Given the description of an element on the screen output the (x, y) to click on. 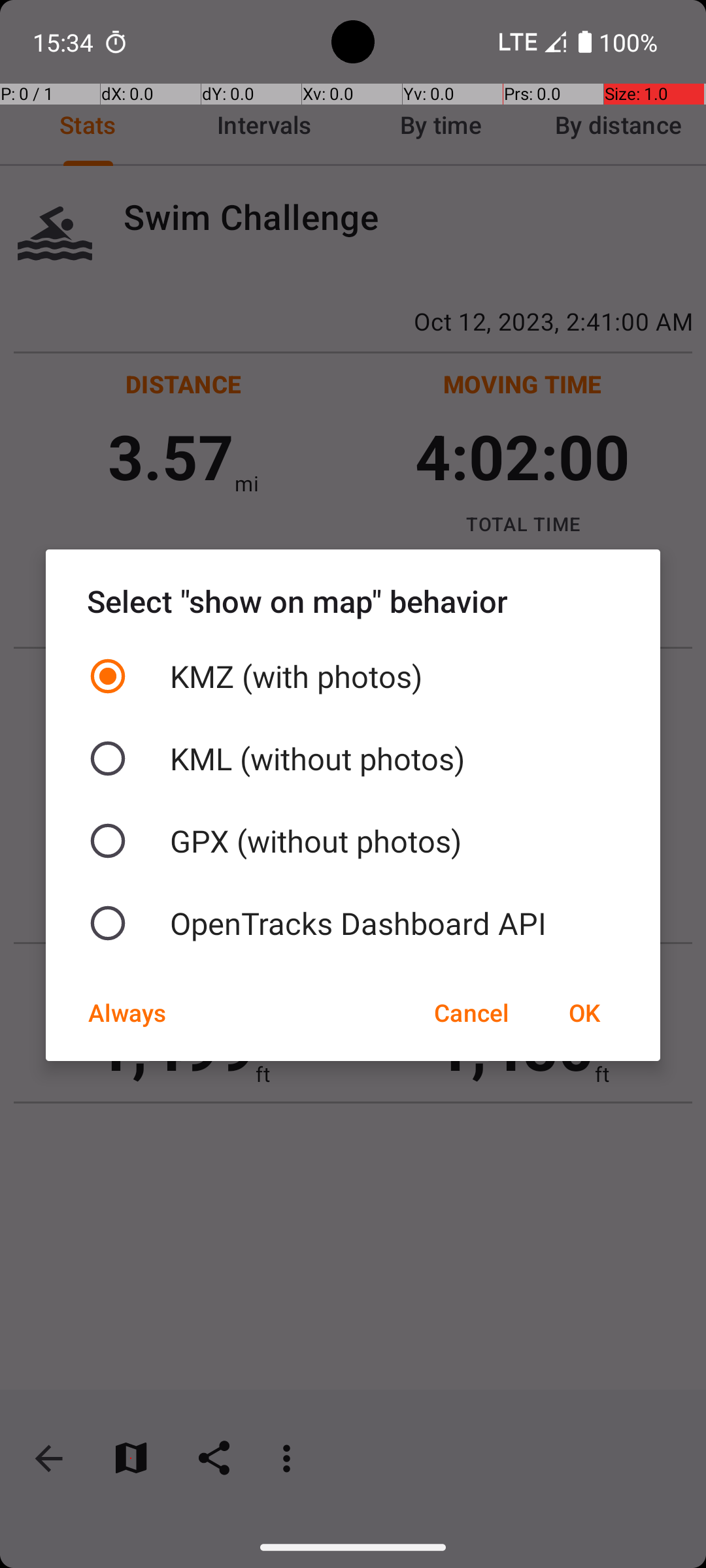
Select "show on map" behavior Element type: android.widget.TextView (352, 600)
KMZ (with photos) Element type: android.widget.CheckedTextView (352, 676)
KML (without photos) Element type: android.widget.CheckedTextView (352, 758)
GPX (without photos) Element type: android.widget.CheckedTextView (352, 840)
OpenTracks Dashboard API Element type: android.widget.CheckedTextView (352, 923)
